Given the description of an element on the screen output the (x, y) to click on. 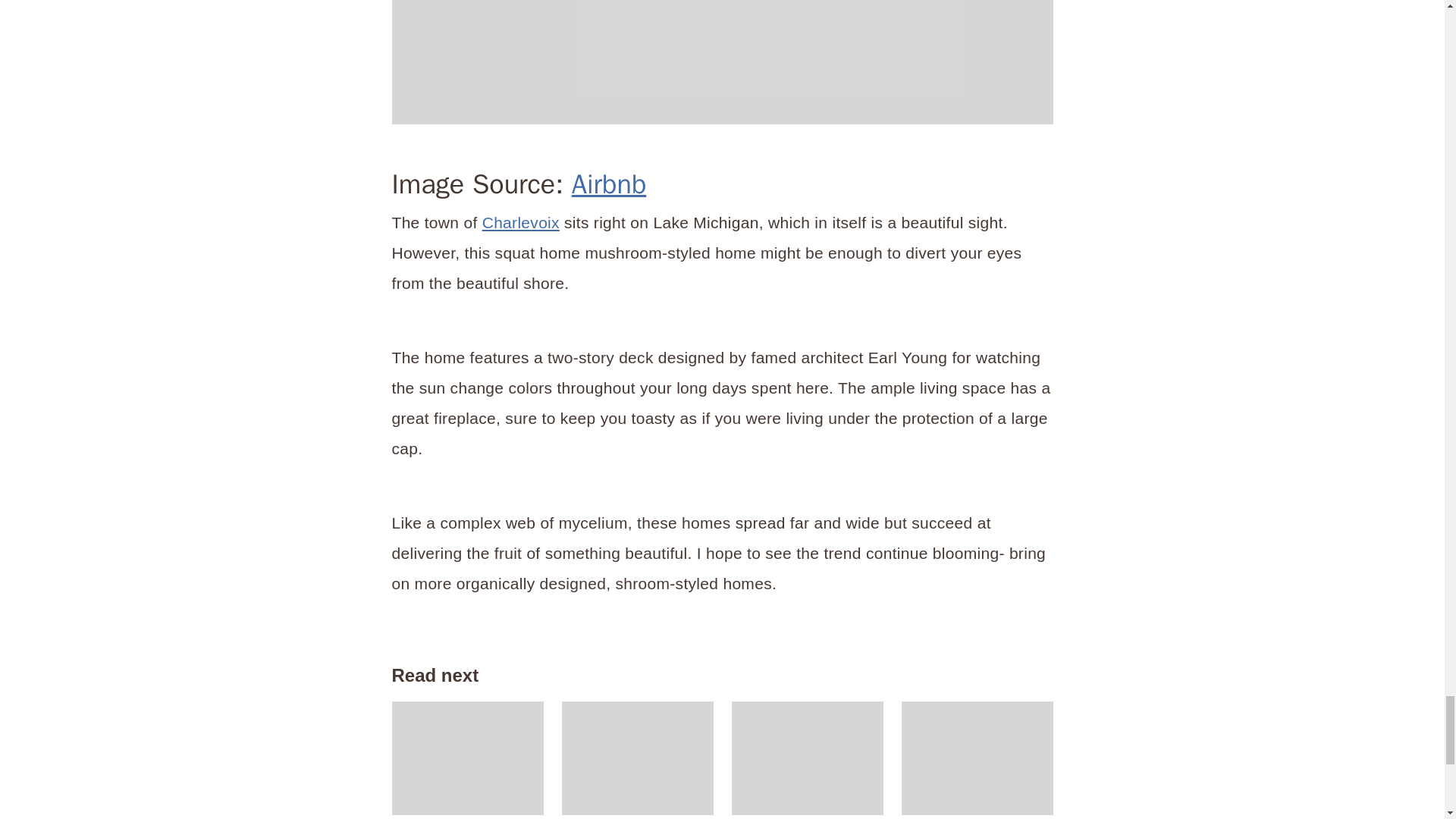
Charlevoix (520, 221)
Airbnb (609, 184)
Airbnb (721, 62)
